Given the description of an element on the screen output the (x, y) to click on. 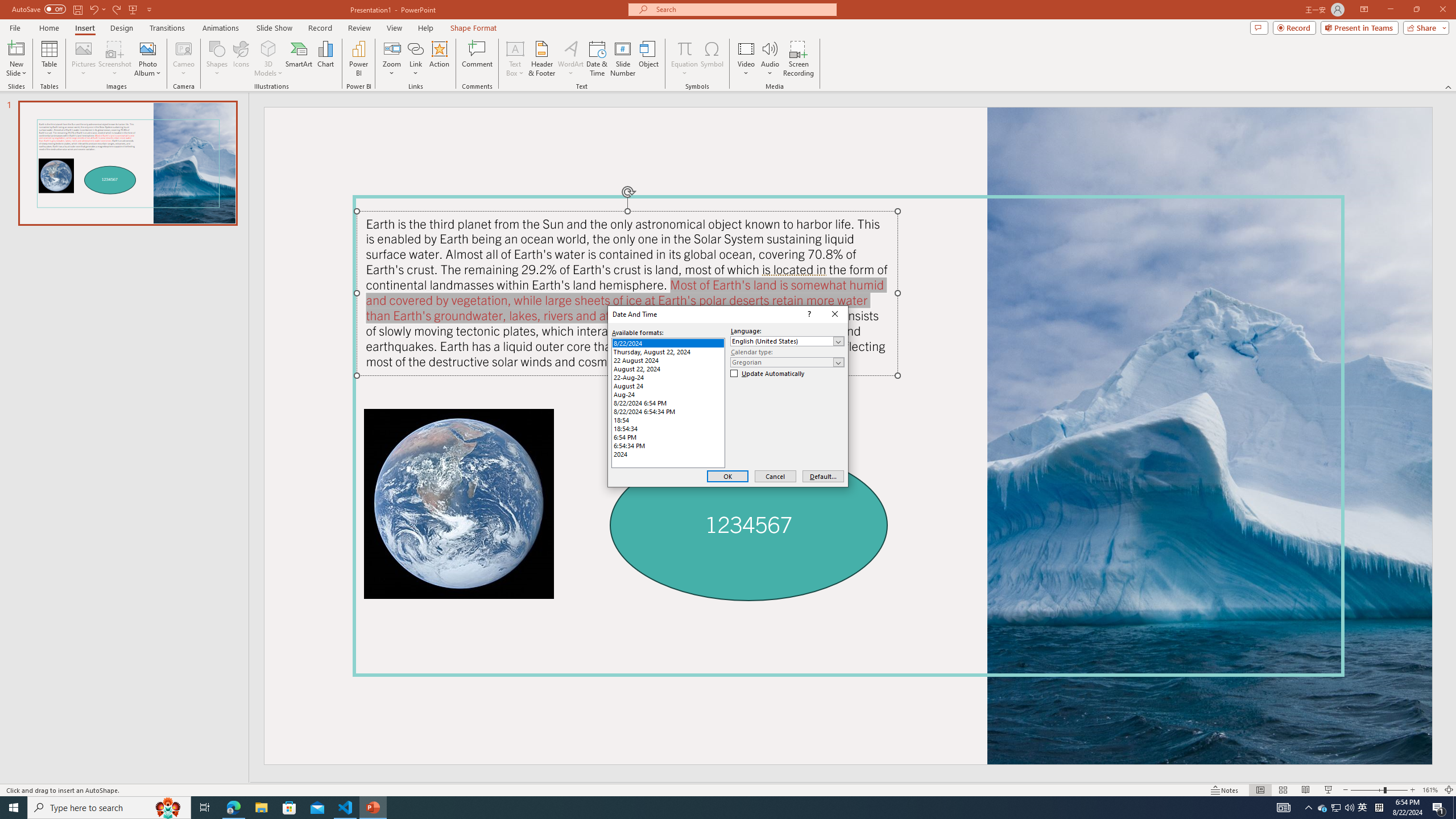
6:54:34 PM (667, 445)
Zoom 161% (1430, 790)
Screen Recording... (798, 58)
Slide Number (622, 58)
